Given the description of an element on the screen output the (x, y) to click on. 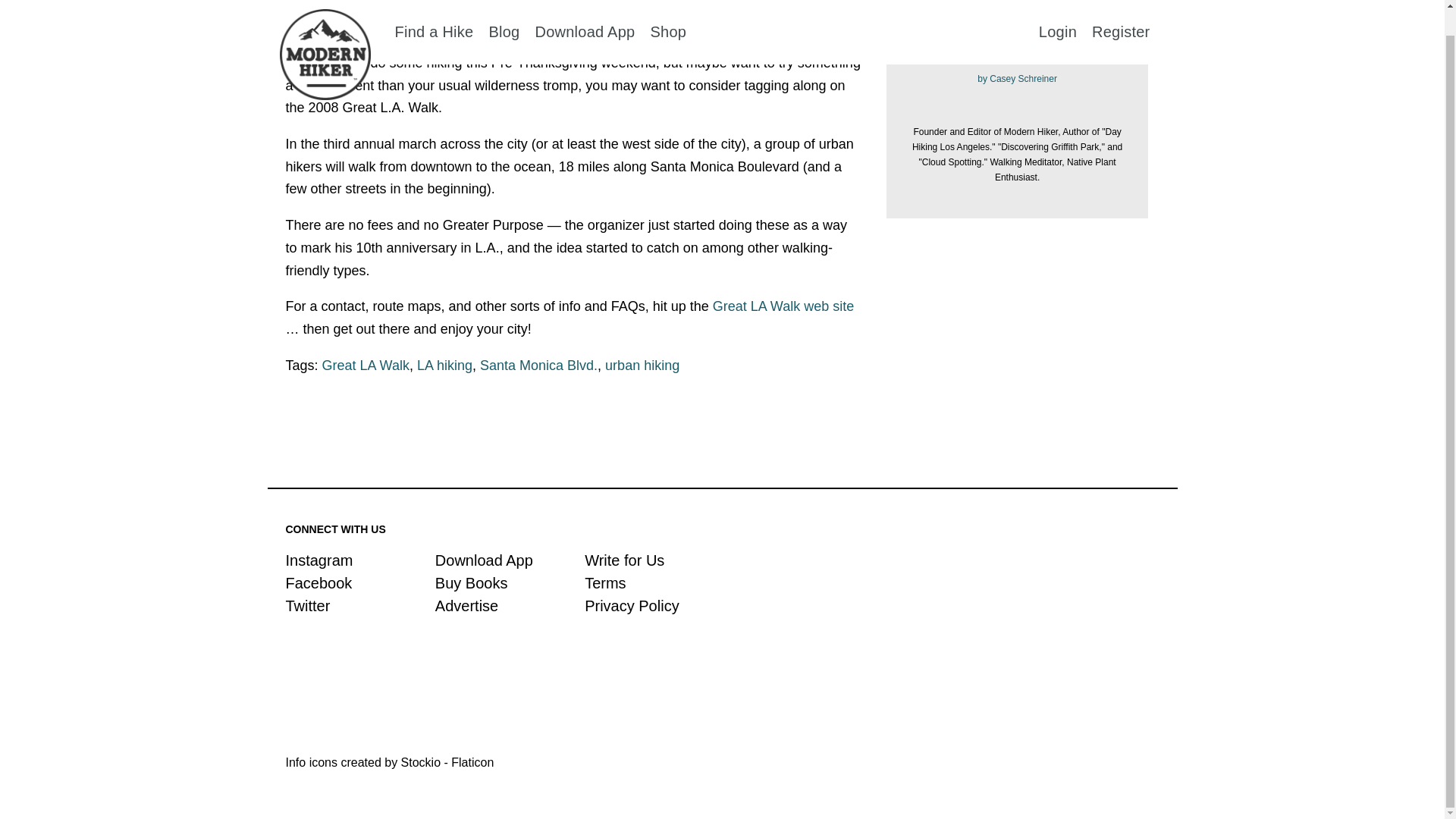
Download App (584, 8)
Info icons created by Stockio - Flaticon (389, 762)
Write for Us (624, 560)
LA hiking (443, 365)
Blog (503, 8)
Santa Monica Blvd. (538, 365)
info icons (389, 762)
Shop (667, 8)
Login (1058, 8)
Instagram (318, 560)
Buy Books (471, 582)
Download App (483, 560)
Register (1121, 8)
urban hiking (642, 365)
Facebook (318, 582)
